Given the description of an element on the screen output the (x, y) to click on. 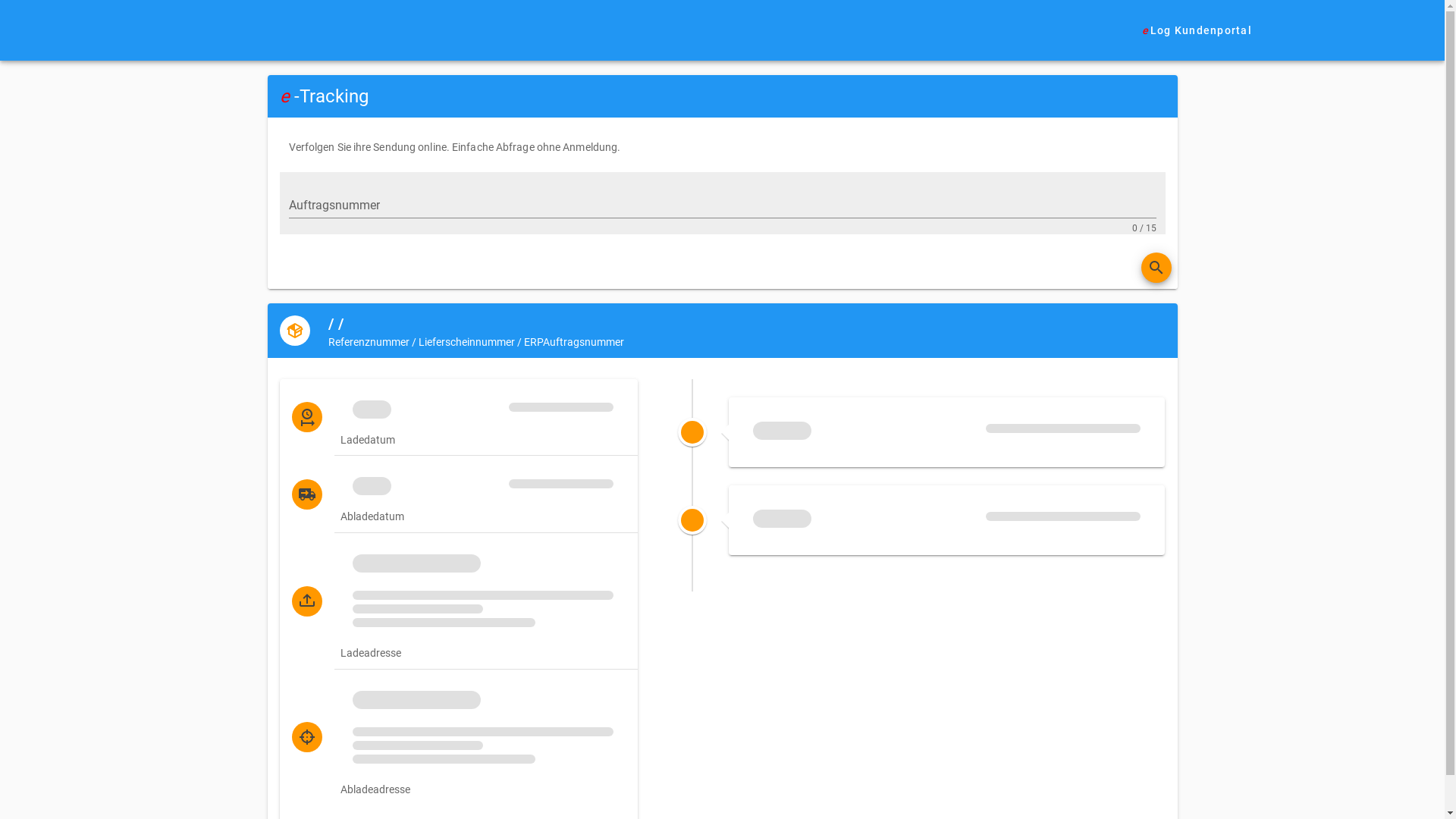
e
Log Kundenportal Element type: text (1196, 30)
